Given the description of an element on the screen output the (x, y) to click on. 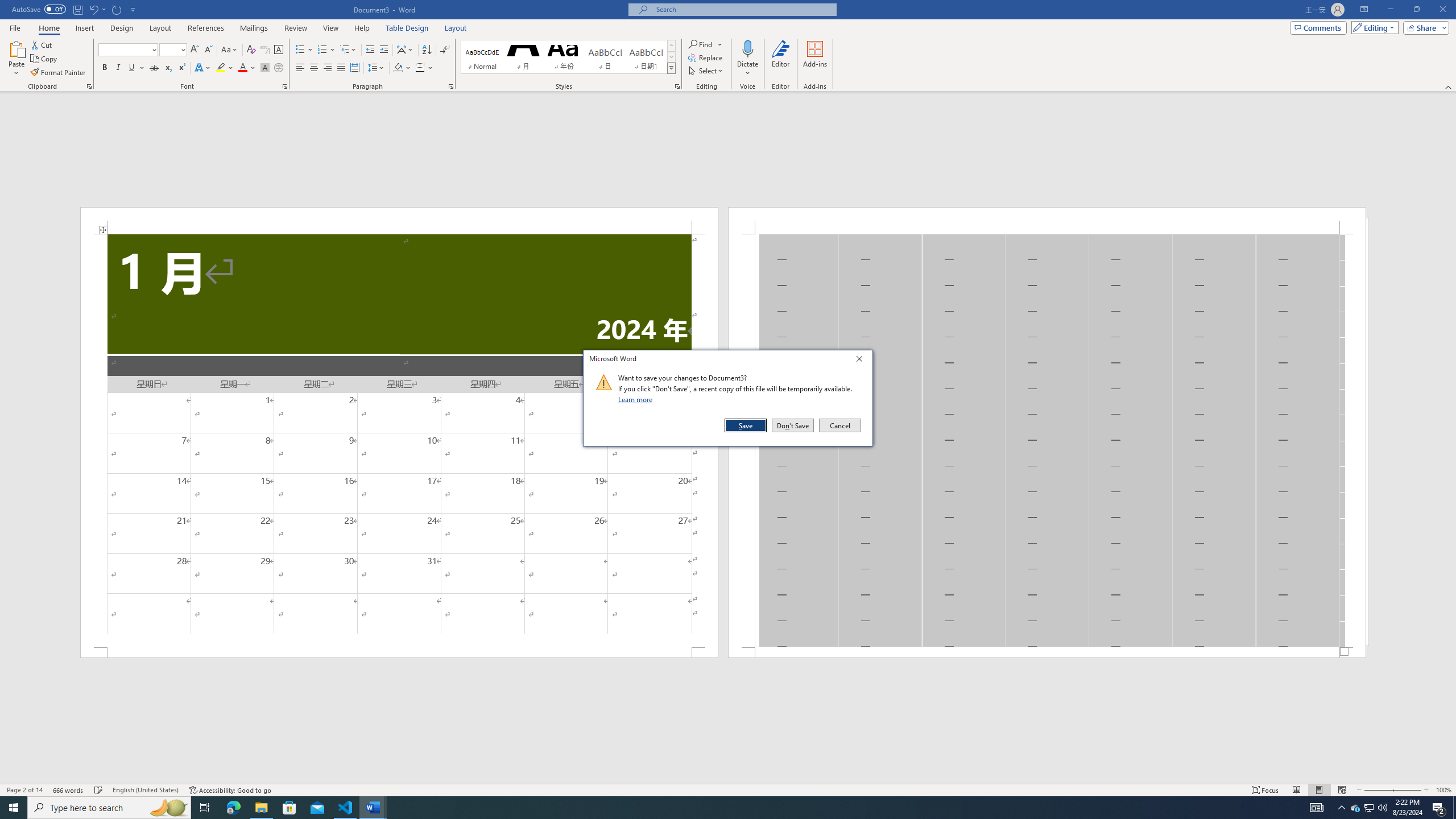
Microsoft Edge (233, 807)
Word Count 666 words (68, 790)
